Given the description of an element on the screen output the (x, y) to click on. 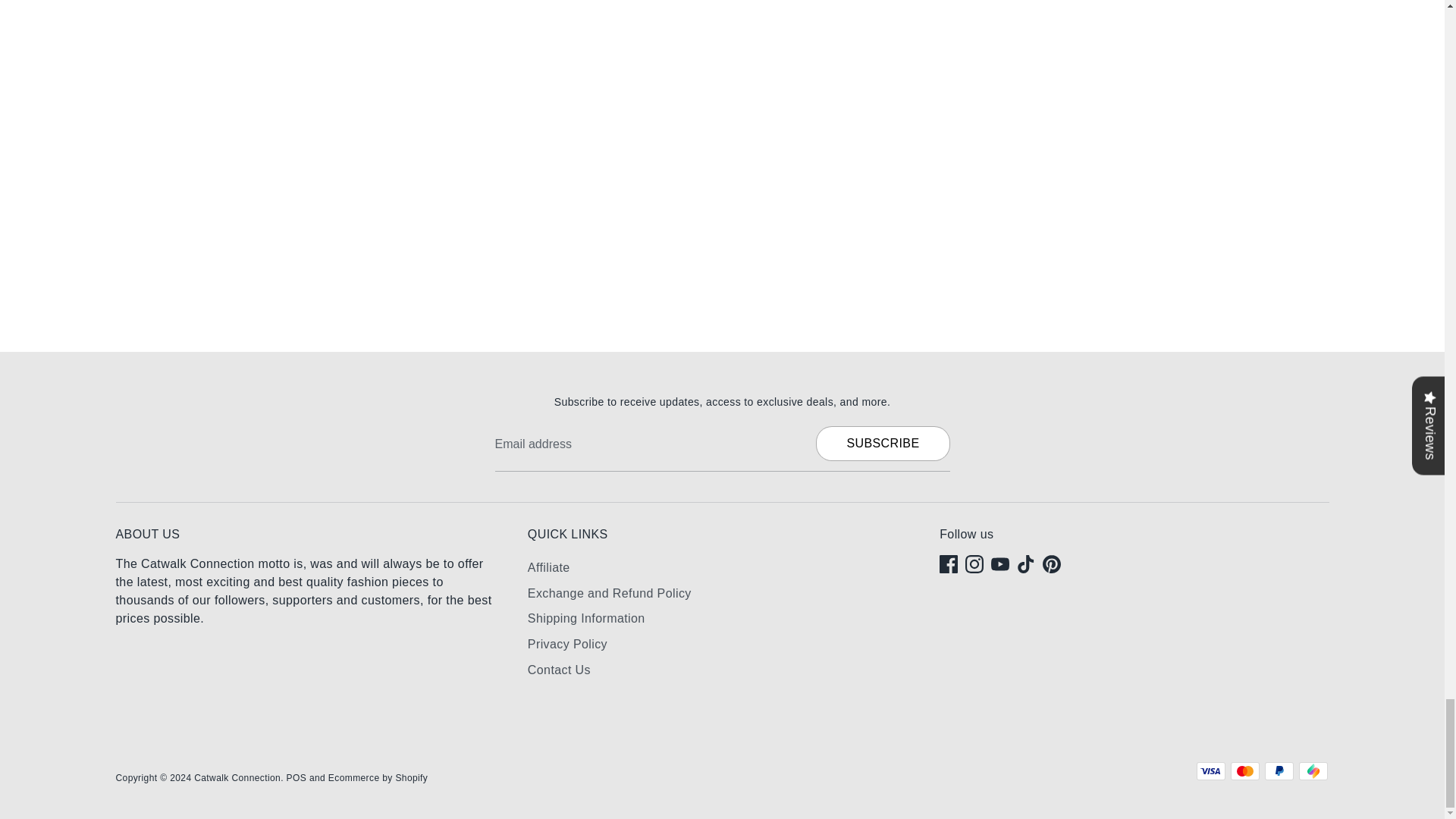
Mastercard (1244, 771)
Sezzle (1312, 771)
Visa (1210, 771)
PayPal (1279, 771)
